Given the description of an element on the screen output the (x, y) to click on. 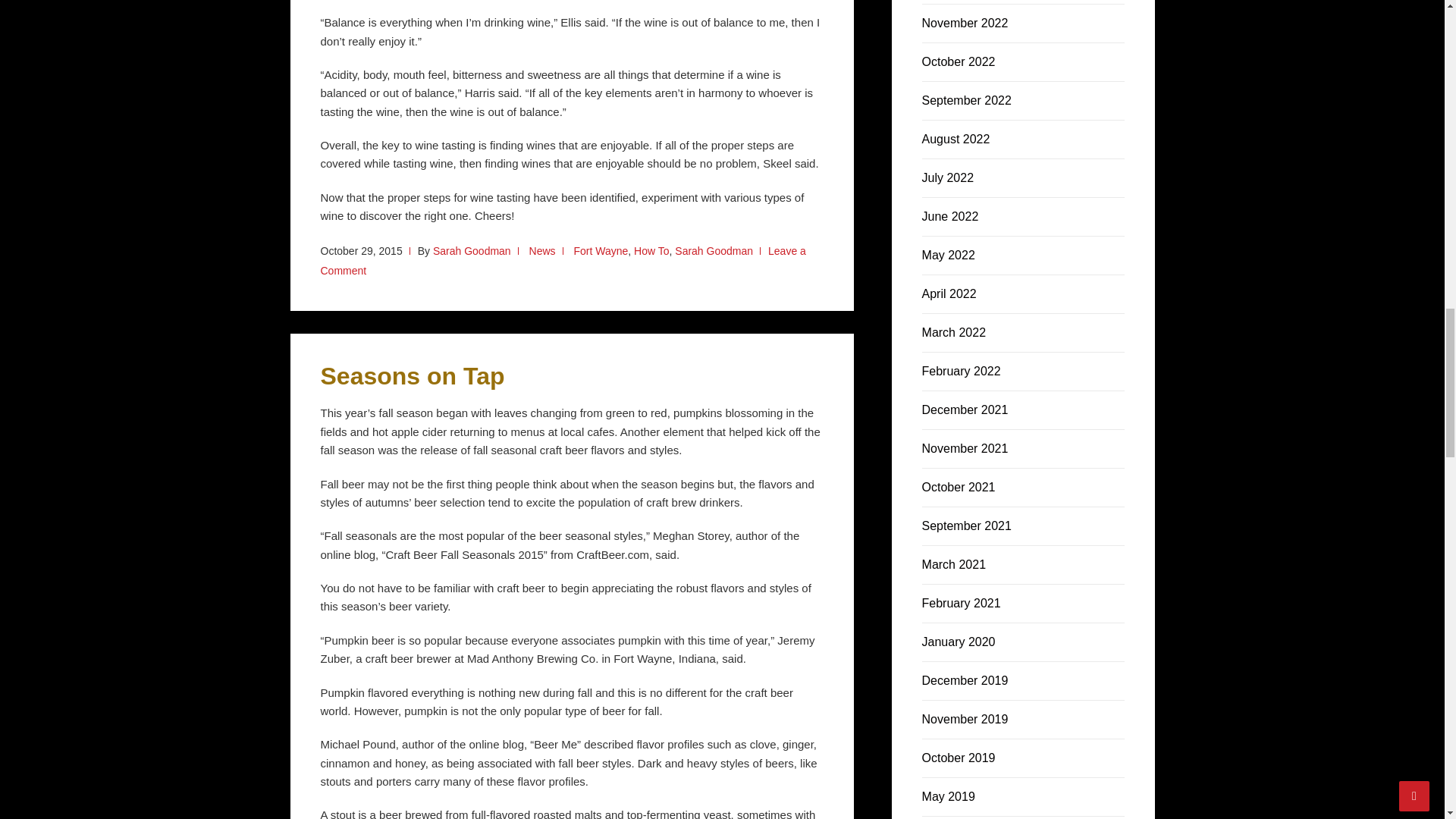
Leave a Comment (562, 260)
Sarah Goodman (471, 250)
How To (650, 250)
Seasons on Tap (411, 375)
View all posts by Sarah Goodman (471, 250)
Sarah Goodman (713, 250)
News (542, 250)
Fort Wayne (600, 250)
